Given the description of an element on the screen output the (x, y) to click on. 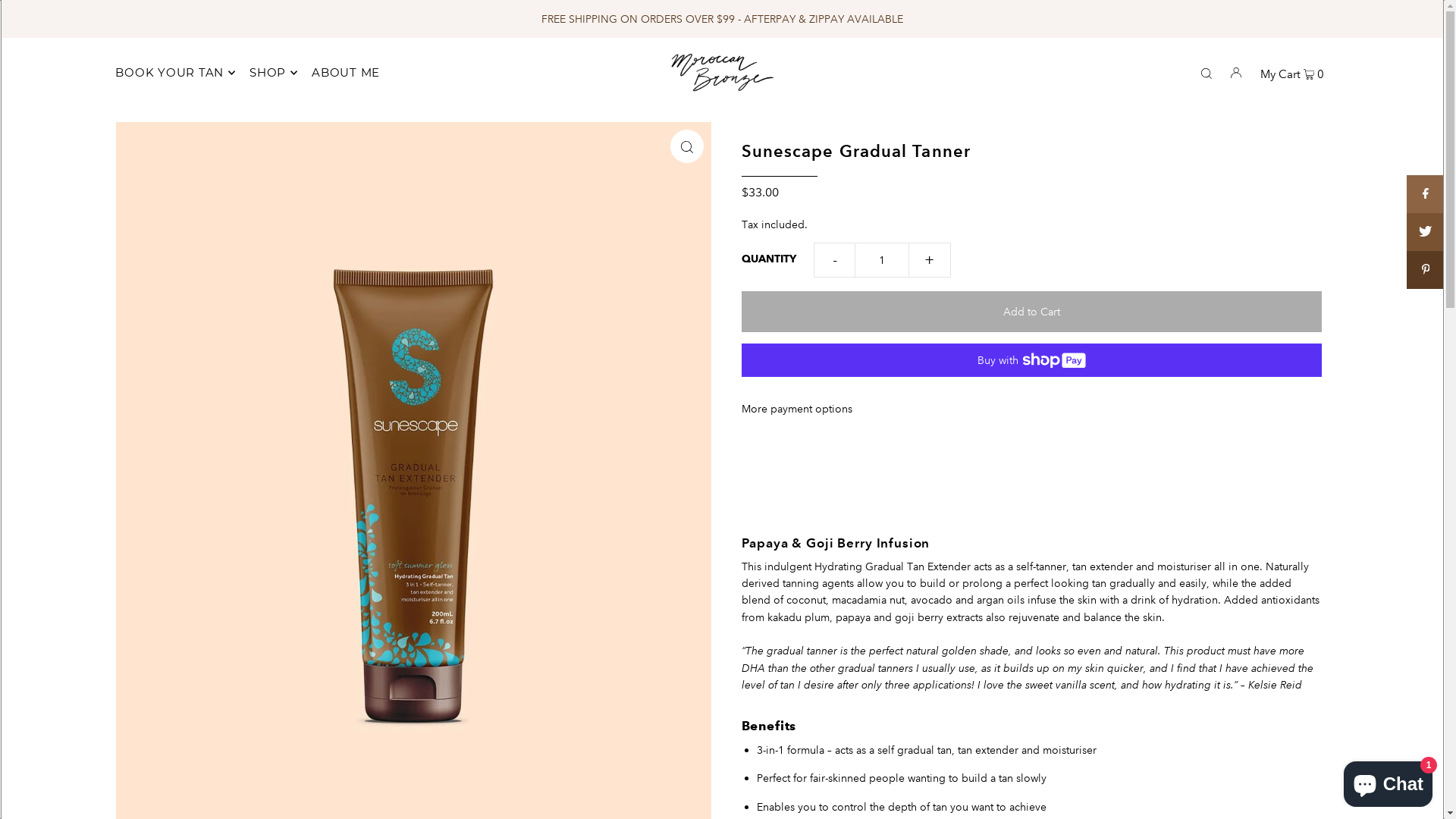
More payment options Element type: text (1031, 408)
SHOP Element type: text (273, 72)
Shopify online store chat Element type: hover (1388, 780)
ABOUT ME Element type: text (345, 72)
- Element type: text (833, 259)
Add to Cart Element type: text (1031, 311)
+ Element type: text (929, 259)
BOOK YOUR TAN Element type: text (175, 72)
